Given the description of an element on the screen output the (x, y) to click on. 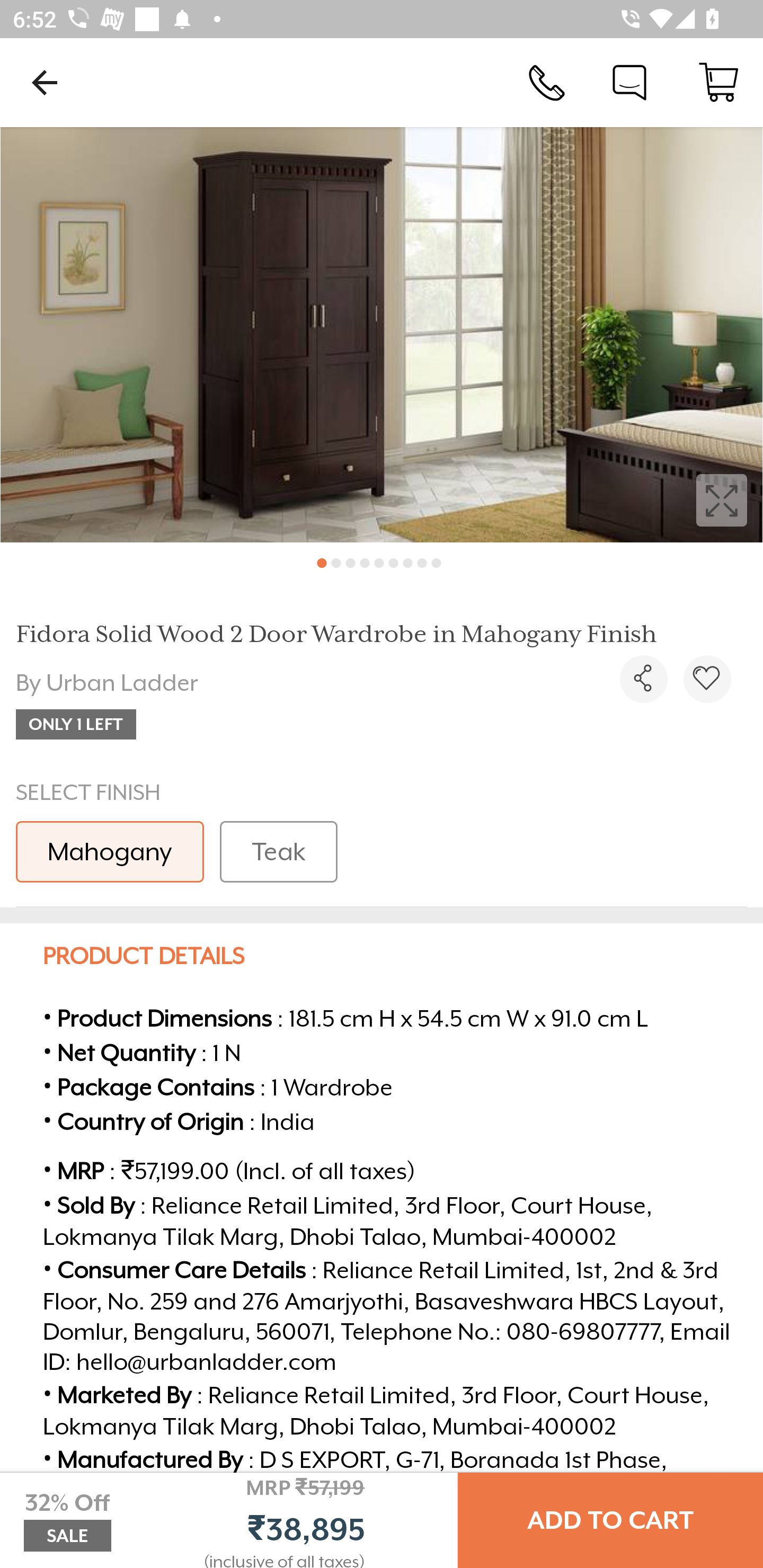
Navigate up (44, 82)
Call Us (546, 81)
Chat (629, 81)
Cart (718, 81)
 (381, 334)
 (643, 678)
 (706, 678)
Mahogany (109, 851)
Teak (278, 851)
ADD TO CART (610, 1520)
